Given the description of an element on the screen output the (x, y) to click on. 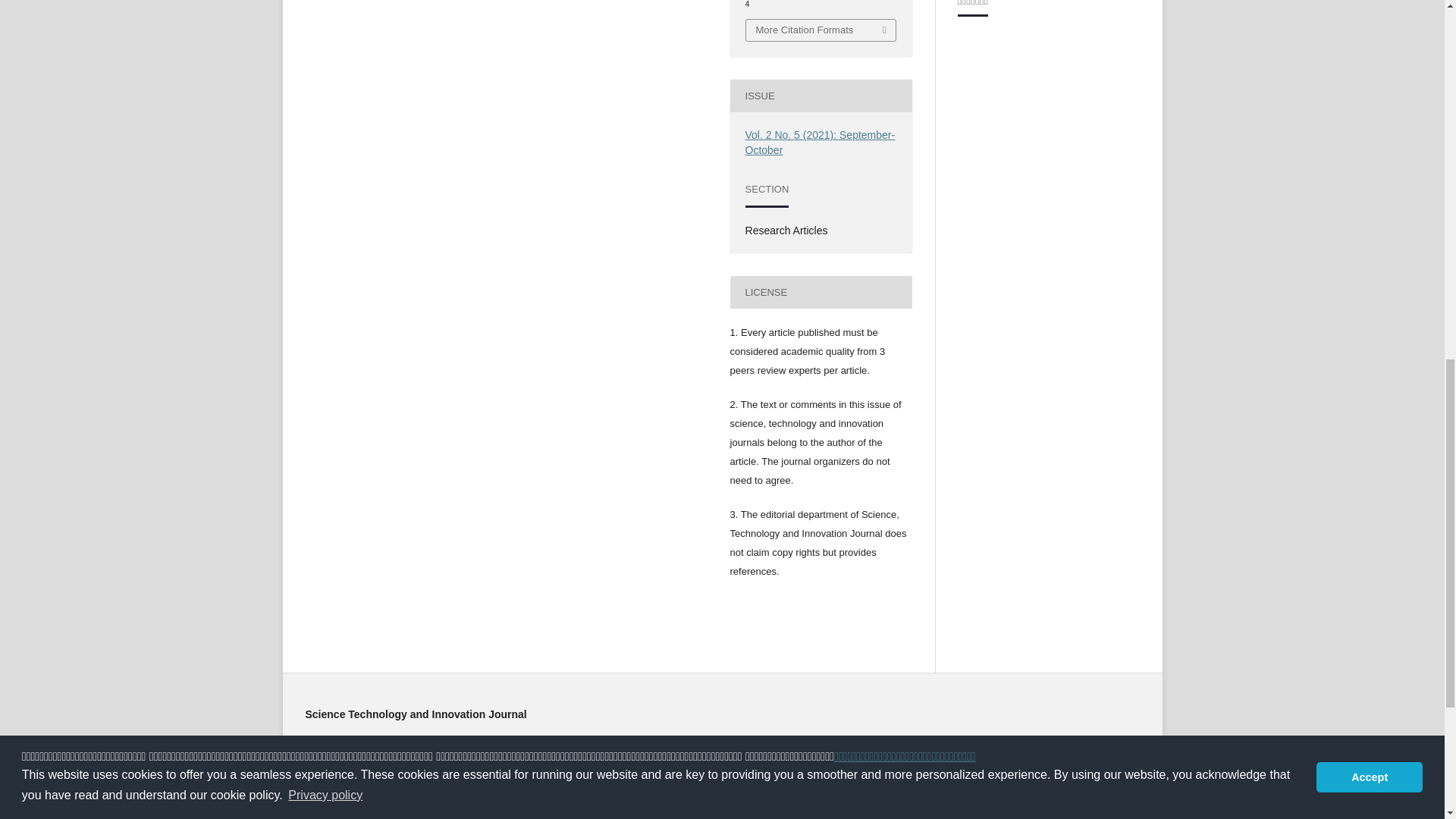
More Citation Formats (820, 29)
